Given the description of an element on the screen output the (x, y) to click on. 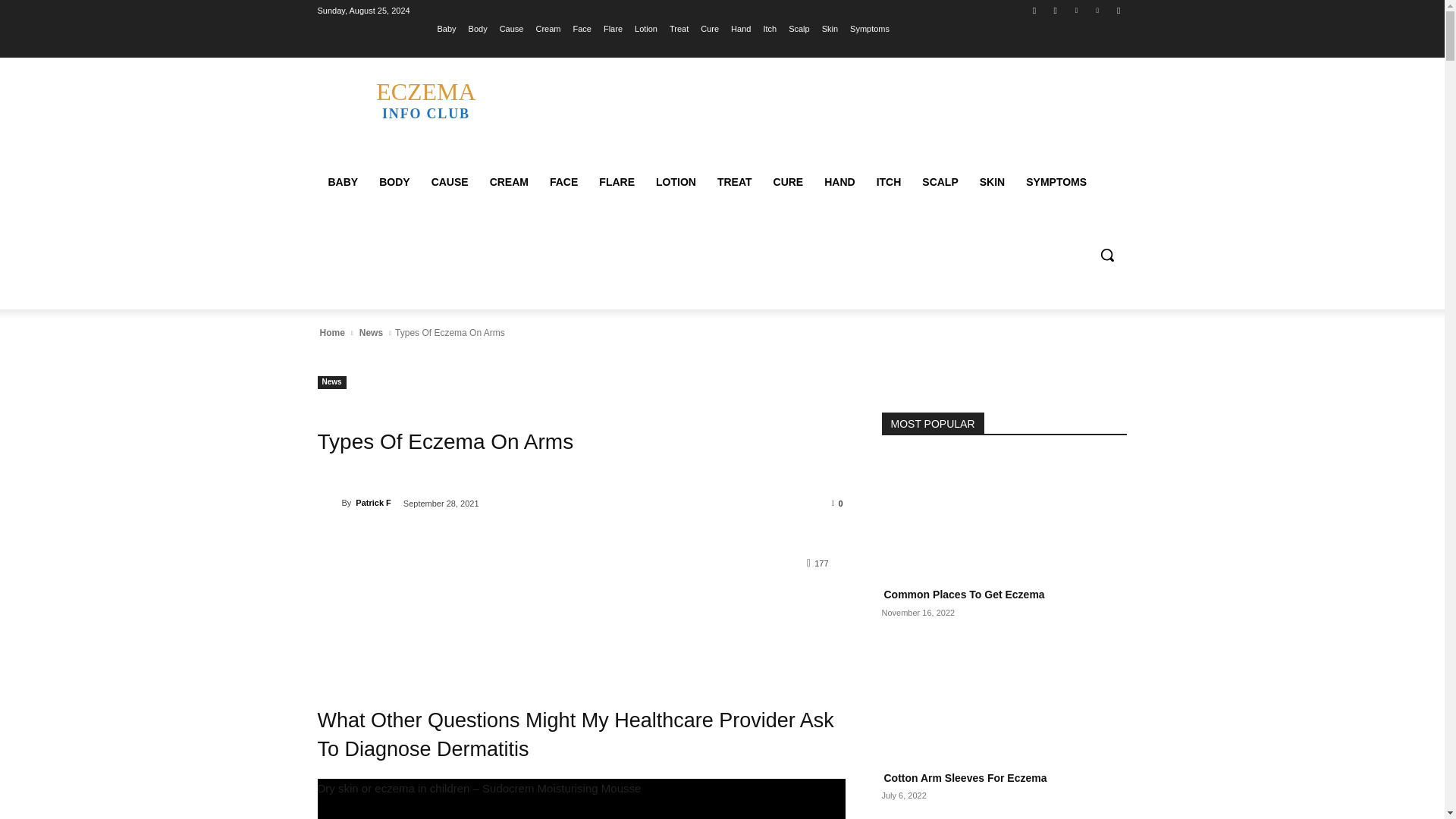
Cause (511, 28)
Patrick F (328, 502)
Vimeo (1097, 9)
Baby (447, 28)
Twitter (1075, 9)
Body (477, 28)
Lotion (646, 28)
Instagram (1055, 9)
View all posts in News (370, 332)
Cream (547, 28)
